Given the description of an element on the screen output the (x, y) to click on. 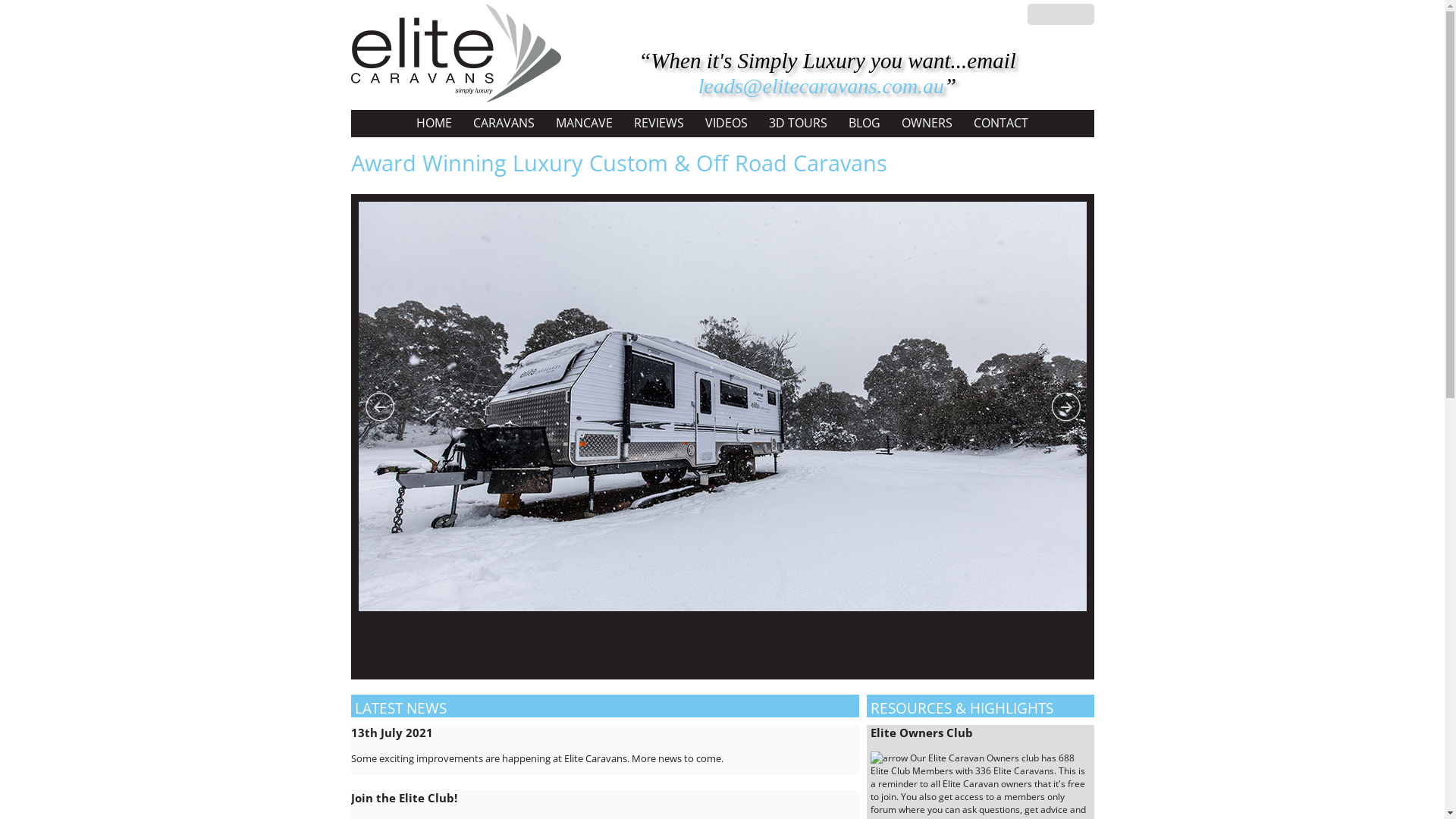
CARAVANS Element type: text (503, 122)
MANCAVE Element type: text (584, 122)
VIDEOS Element type: text (726, 122)
OWNERS Element type: text (926, 122)
3D TOURS Element type: text (797, 122)
REVIEWS Element type: text (658, 122)
HOME Element type: text (433, 122)
BLOG Element type: text (864, 122)
CONTACT Element type: text (1000, 122)
leads@elitecaravans.com.au Element type: text (821, 85)
